Given the description of an element on the screen output the (x, y) to click on. 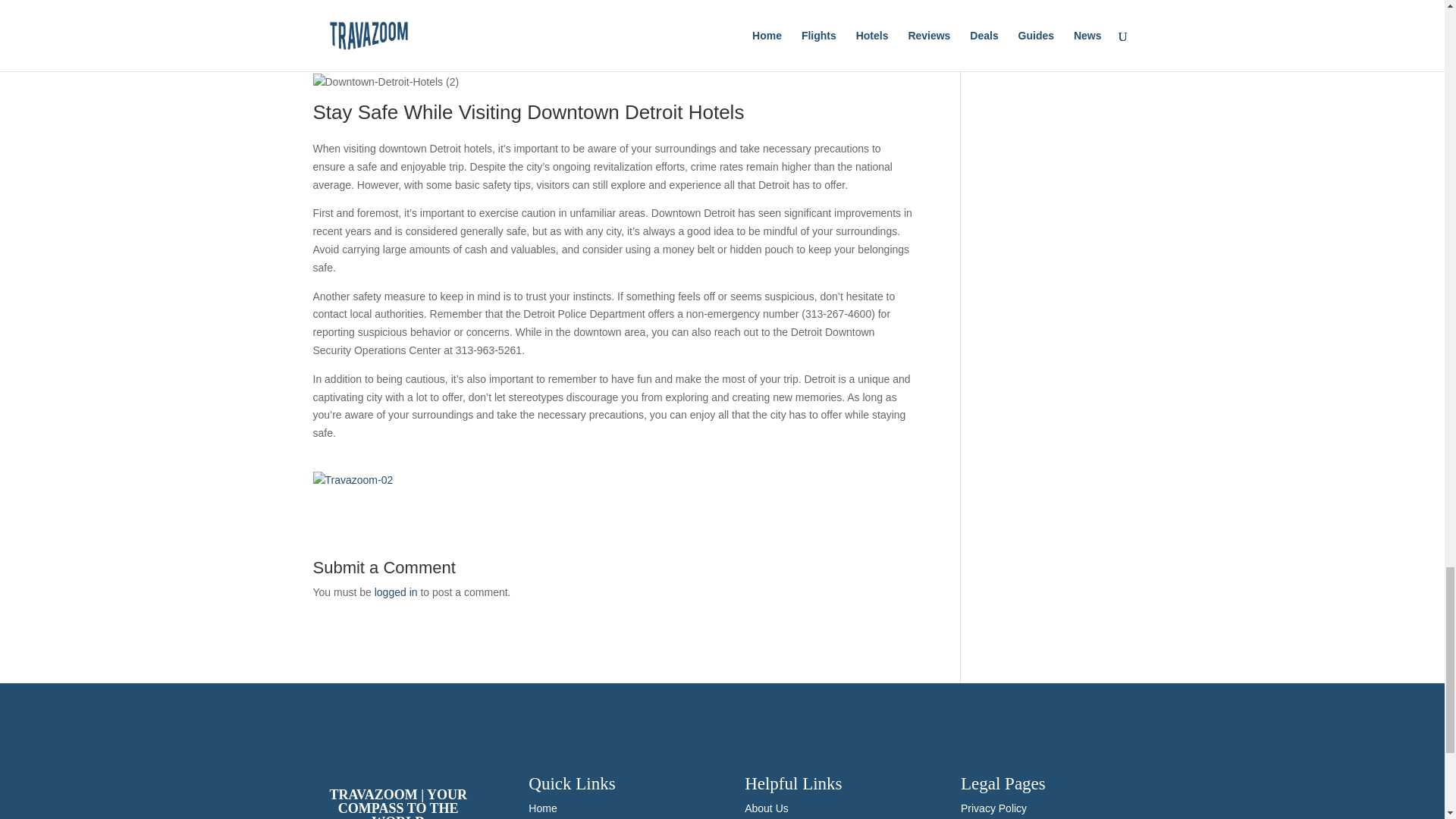
Home (542, 808)
logged in (395, 592)
Privacy Policy (993, 808)
About Us (766, 808)
